Given the description of an element on the screen output the (x, y) to click on. 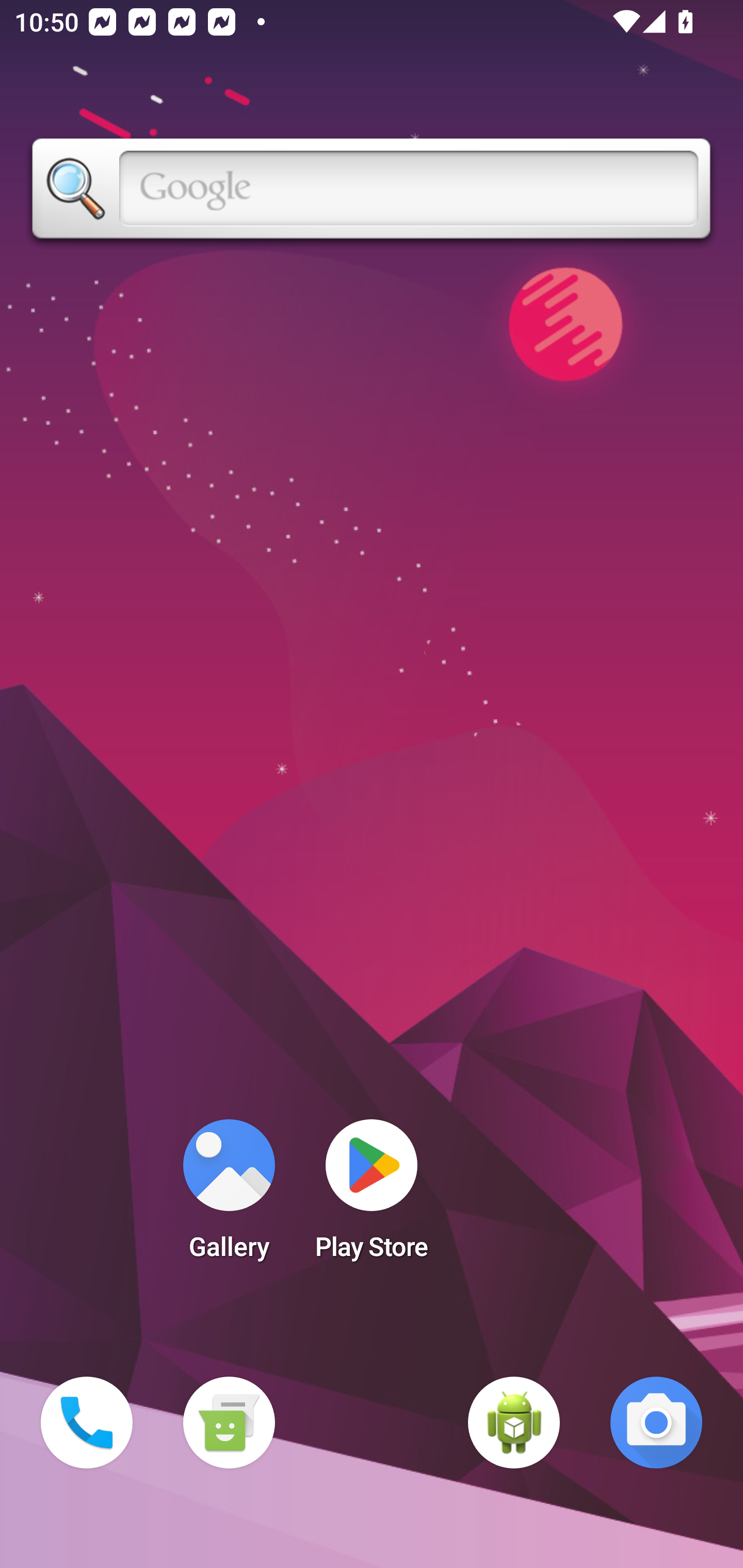
Gallery (228, 1195)
Play Store (371, 1195)
Phone (86, 1422)
Messaging (228, 1422)
WebView Browser Tester (513, 1422)
Camera (656, 1422)
